Given the description of an element on the screen output the (x, y) to click on. 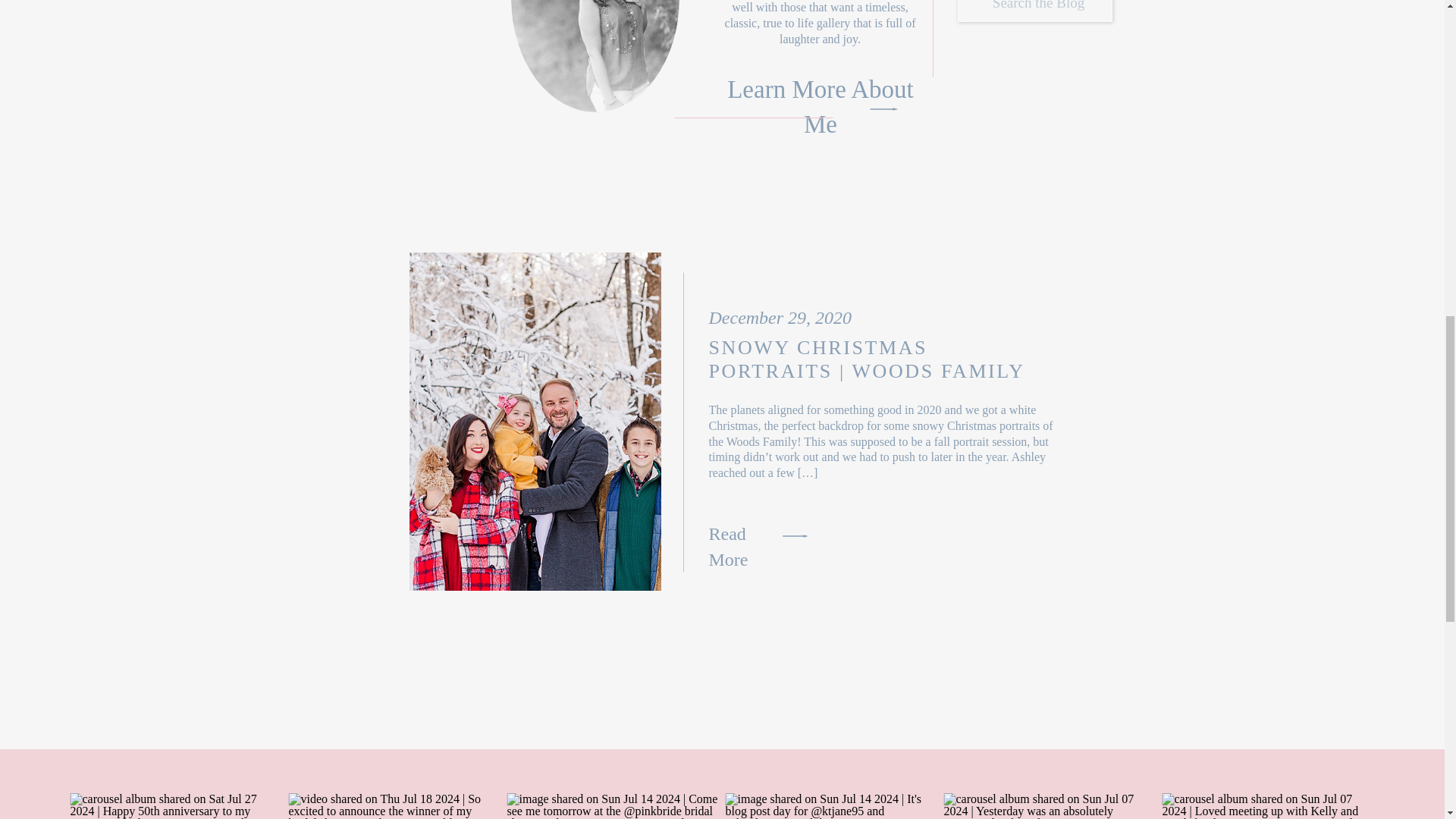
Learn More About Me (820, 86)
Read More (742, 532)
